Given the description of an element on the screen output the (x, y) to click on. 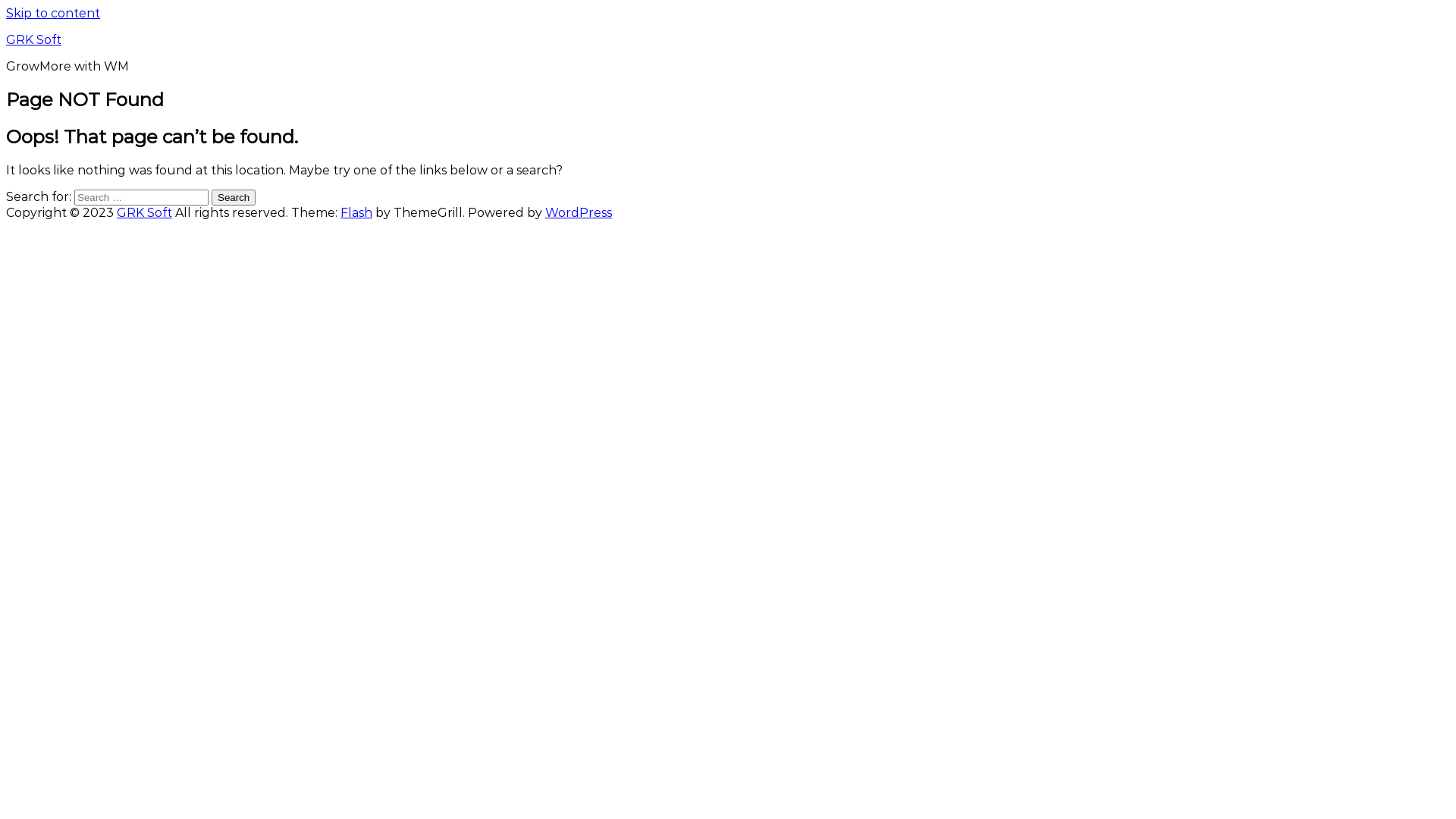
Flash Element type: text (356, 212)
GRK Soft Element type: text (33, 39)
WordPress Element type: text (578, 212)
Skip to content Element type: text (53, 13)
Search Element type: text (233, 197)
GRK Soft Element type: text (144, 212)
